Given the description of an element on the screen output the (x, y) to click on. 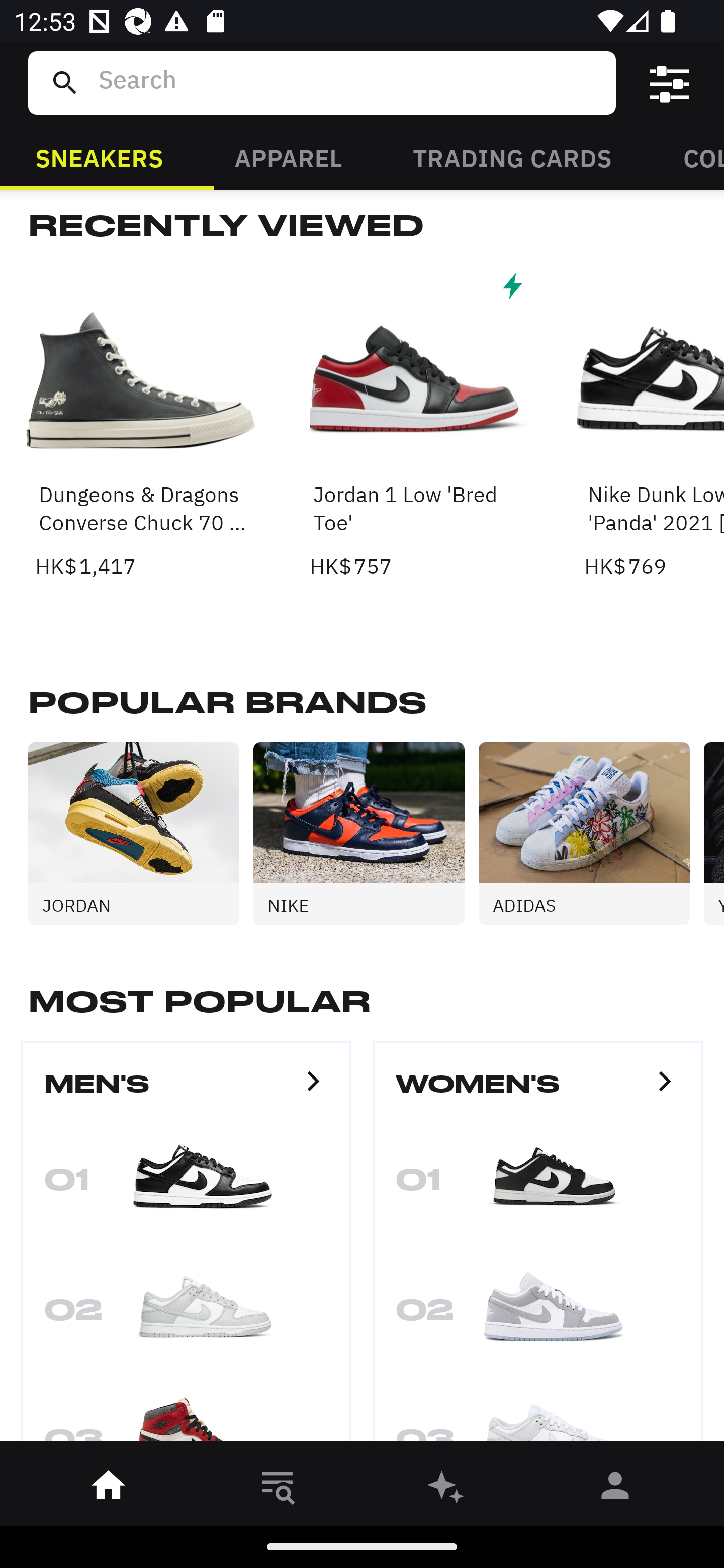
Search (349, 82)
 (669, 82)
SNEAKERS (99, 156)
APPAREL (287, 156)
TRADING CARDS (512, 156)
 Jordan 1 Low 'Bred Toe' HK$ 757 (414, 423)
JORDAN (140, 833)
NIKE (365, 833)
ADIDAS (590, 833)
MEN'S  (186, 1092)
WOMEN'S  (538, 1092)
01 (186, 1186)
01 (538, 1186)
02 (186, 1316)
02 (538, 1316)
󰋜 (108, 1488)
󱎸 (277, 1488)
󰫢 (446, 1488)
󰀄 (615, 1488)
